Given the description of an element on the screen output the (x, y) to click on. 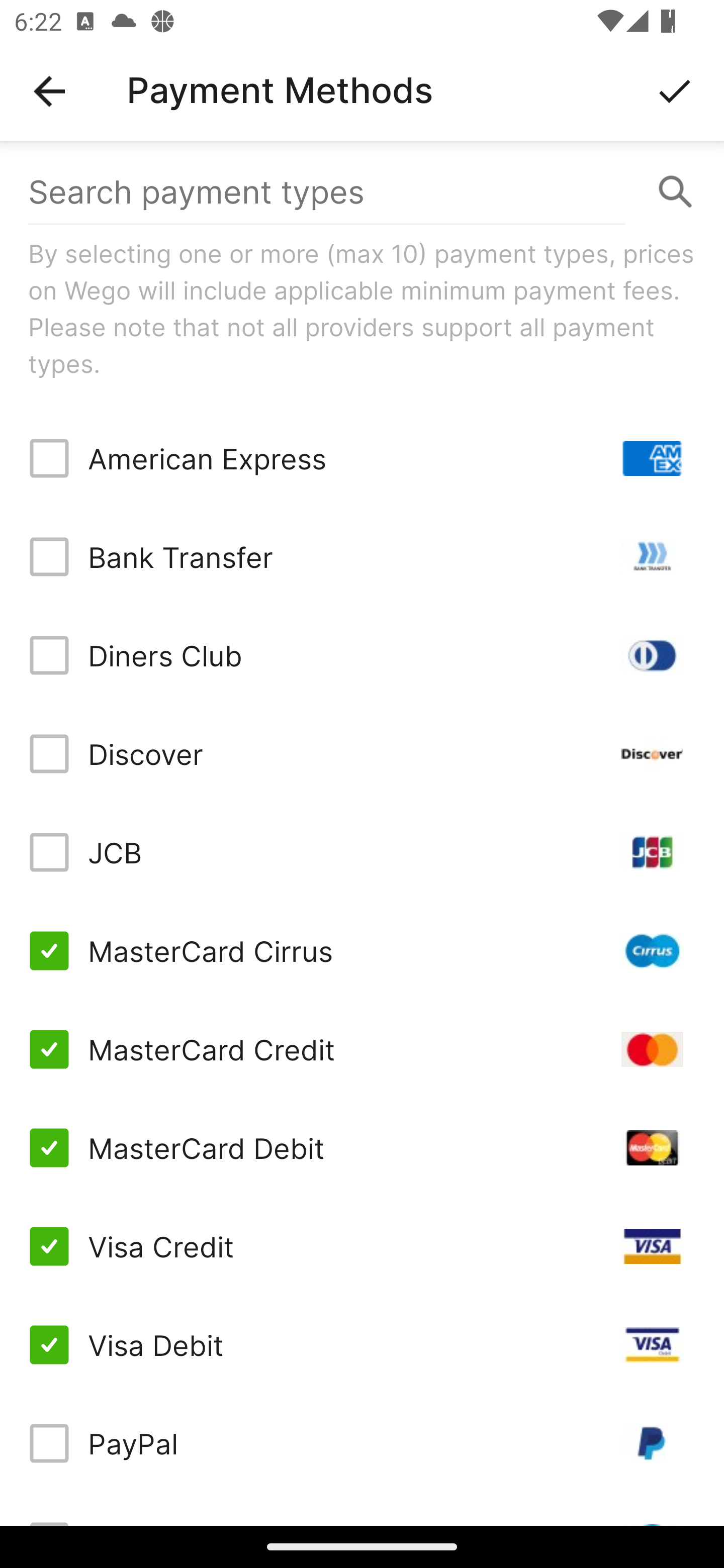
Search payment types  (361, 191)
American Express (362, 458)
Bank Transfer (362, 557)
Diners Club (362, 655)
Discover (362, 753)
JCB (362, 851)
MasterCard Cirrus (362, 950)
MasterCard Credit (362, 1049)
MasterCard Debit (362, 1147)
Visa Credit (362, 1245)
Visa Debit (362, 1344)
PayPal (362, 1442)
